Given the description of an element on the screen output the (x, y) to click on. 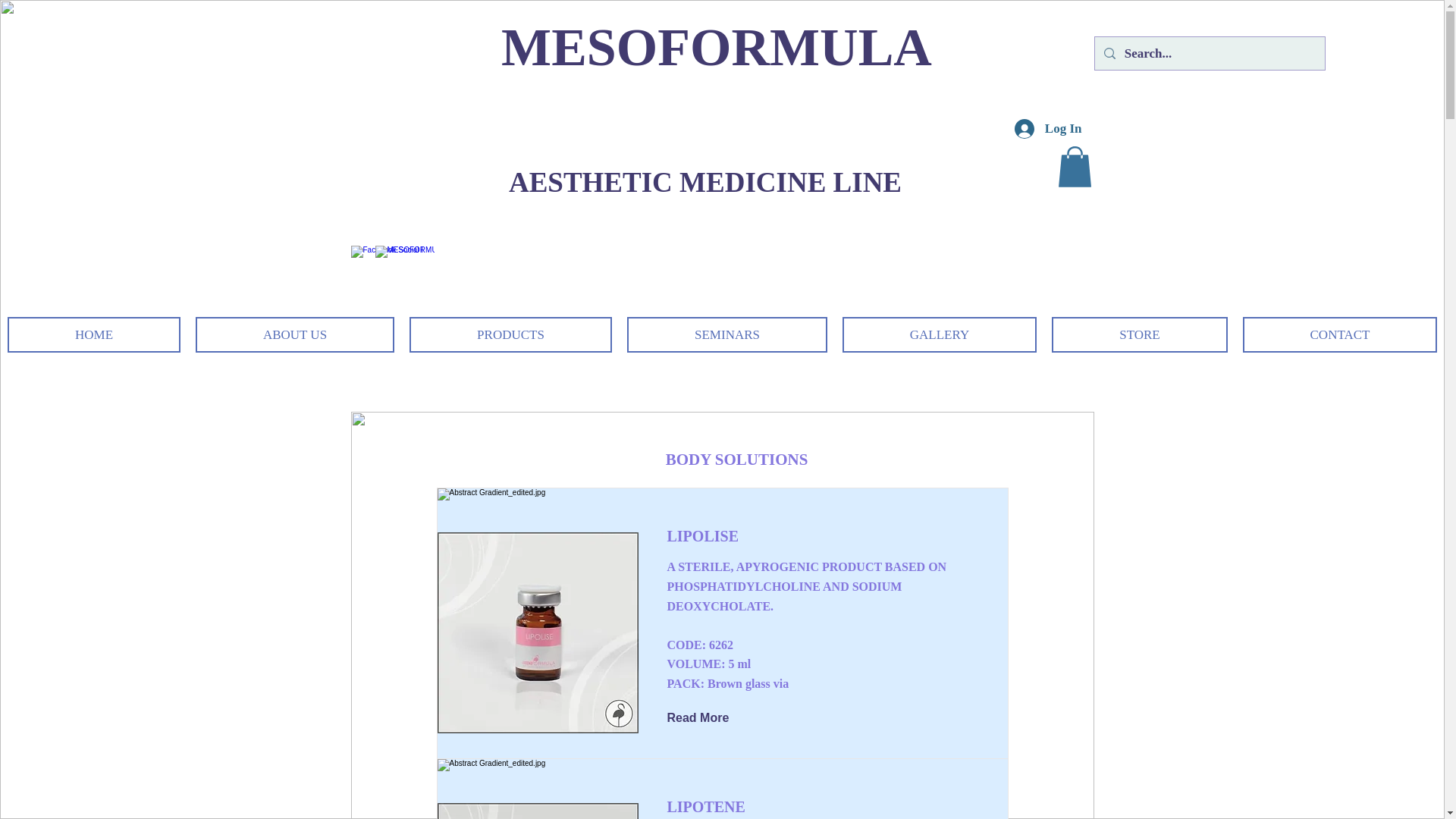
HOME (93, 334)
STORE (1139, 334)
ABOUT US (294, 334)
MESOFORMULA (715, 47)
Read More (707, 718)
GALLERY (939, 334)
CONTACT (1340, 334)
Log In (1048, 128)
PRODUCTS (510, 334)
SEMINARS (727, 334)
